Given the description of an element on the screen output the (x, y) to click on. 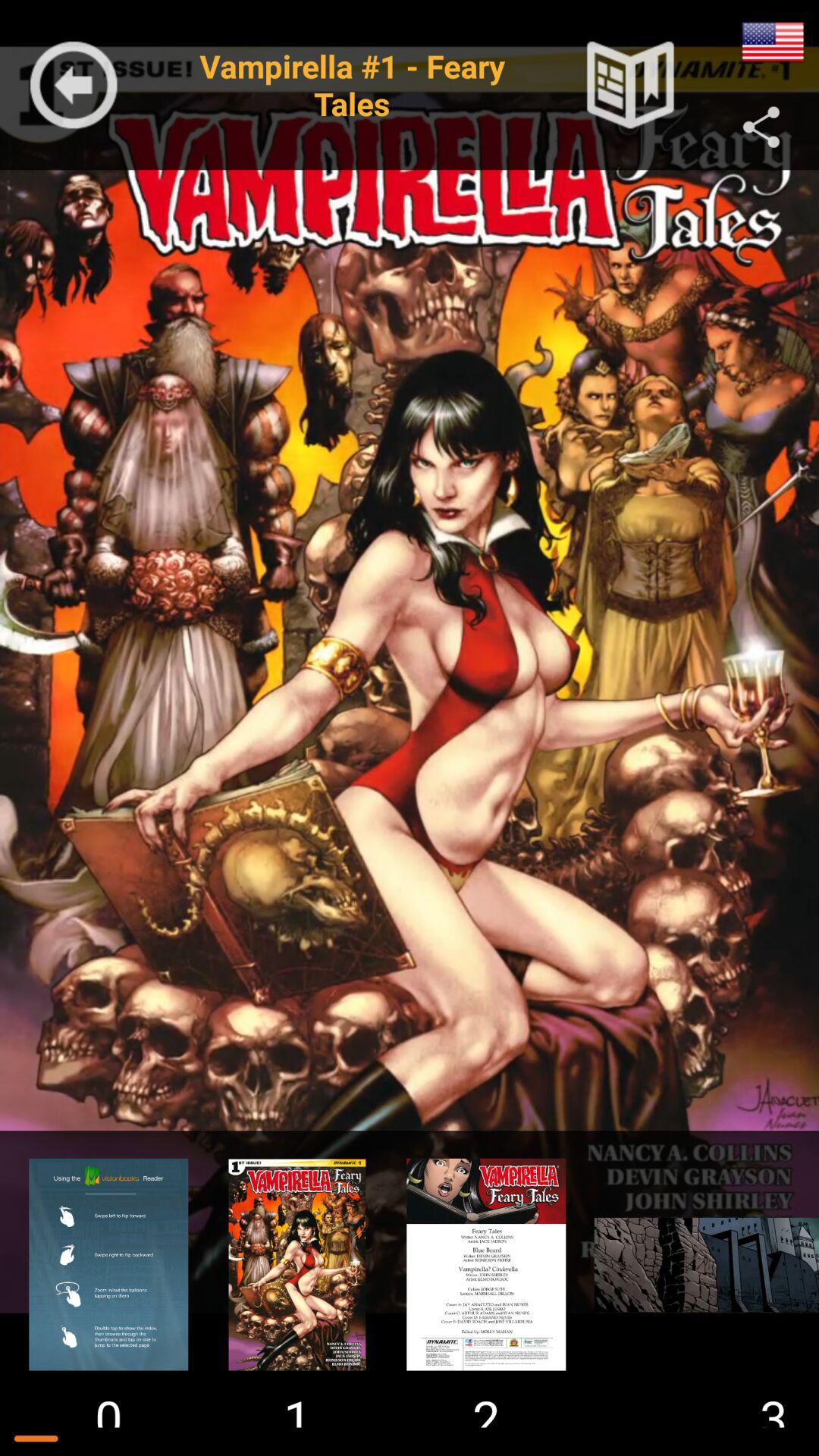
option 3 (486, 1264)
